Given the description of an element on the screen output the (x, y) to click on. 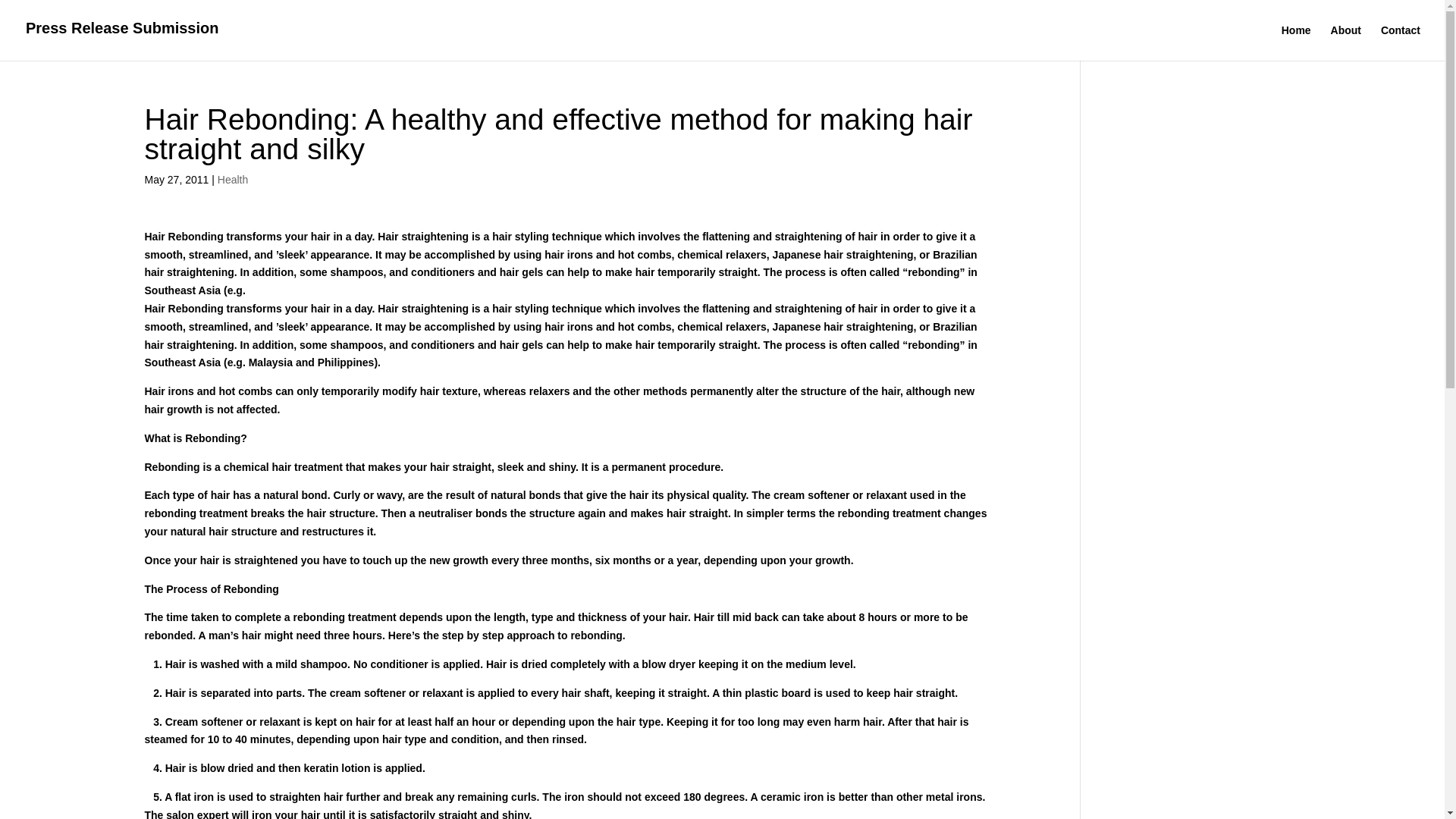
Contact (1400, 42)
Health (231, 179)
Press Release Submission (122, 29)
